Given the description of an element on the screen output the (x, y) to click on. 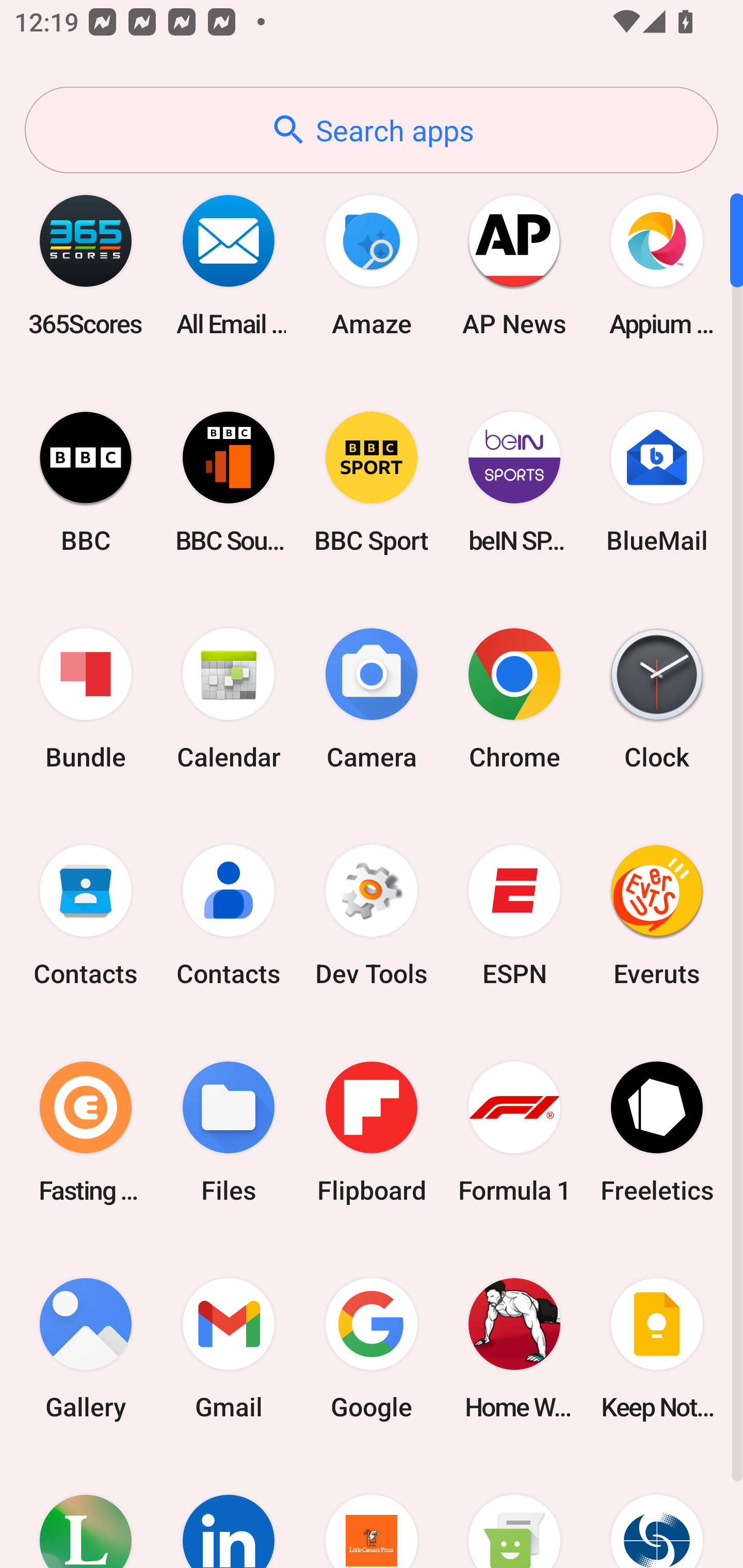
  Search apps (371, 130)
365Scores (85, 264)
All Email Connect (228, 264)
Amaze (371, 264)
AP News (514, 264)
Appium Settings (656, 264)
BBC (85, 482)
BBC Sounds (228, 482)
BBC Sport (371, 482)
beIN SPORTS (514, 482)
BlueMail (656, 482)
Bundle (85, 699)
Calendar (228, 699)
Camera (371, 699)
Chrome (514, 699)
Clock (656, 699)
Contacts (85, 915)
Contacts (228, 915)
Dev Tools (371, 915)
ESPN (514, 915)
Everuts (656, 915)
Fasting Coach (85, 1131)
Files (228, 1131)
Flipboard (371, 1131)
Formula 1 (514, 1131)
Freeletics (656, 1131)
Gallery (85, 1348)
Gmail (228, 1348)
Google (371, 1348)
Home Workout (514, 1348)
Keep Notes (656, 1348)
Lifesum (85, 1512)
LinkedIn (228, 1512)
Little Caesars Pizza (371, 1512)
Messaging (514, 1512)
MyObservatory (656, 1512)
